Given the description of an element on the screen output the (x, y) to click on. 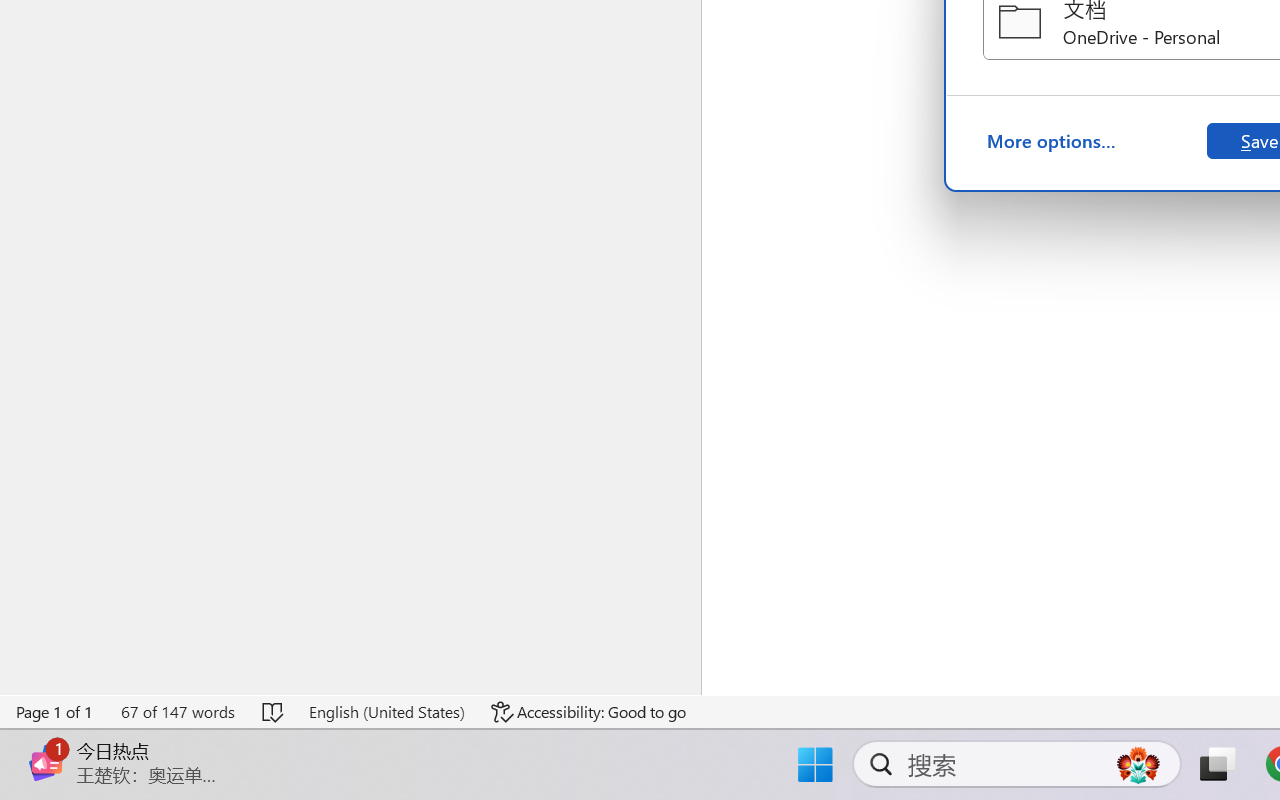
Page Number Page 1 of 1 (55, 712)
